Given the description of an element on the screen output the (x, y) to click on. 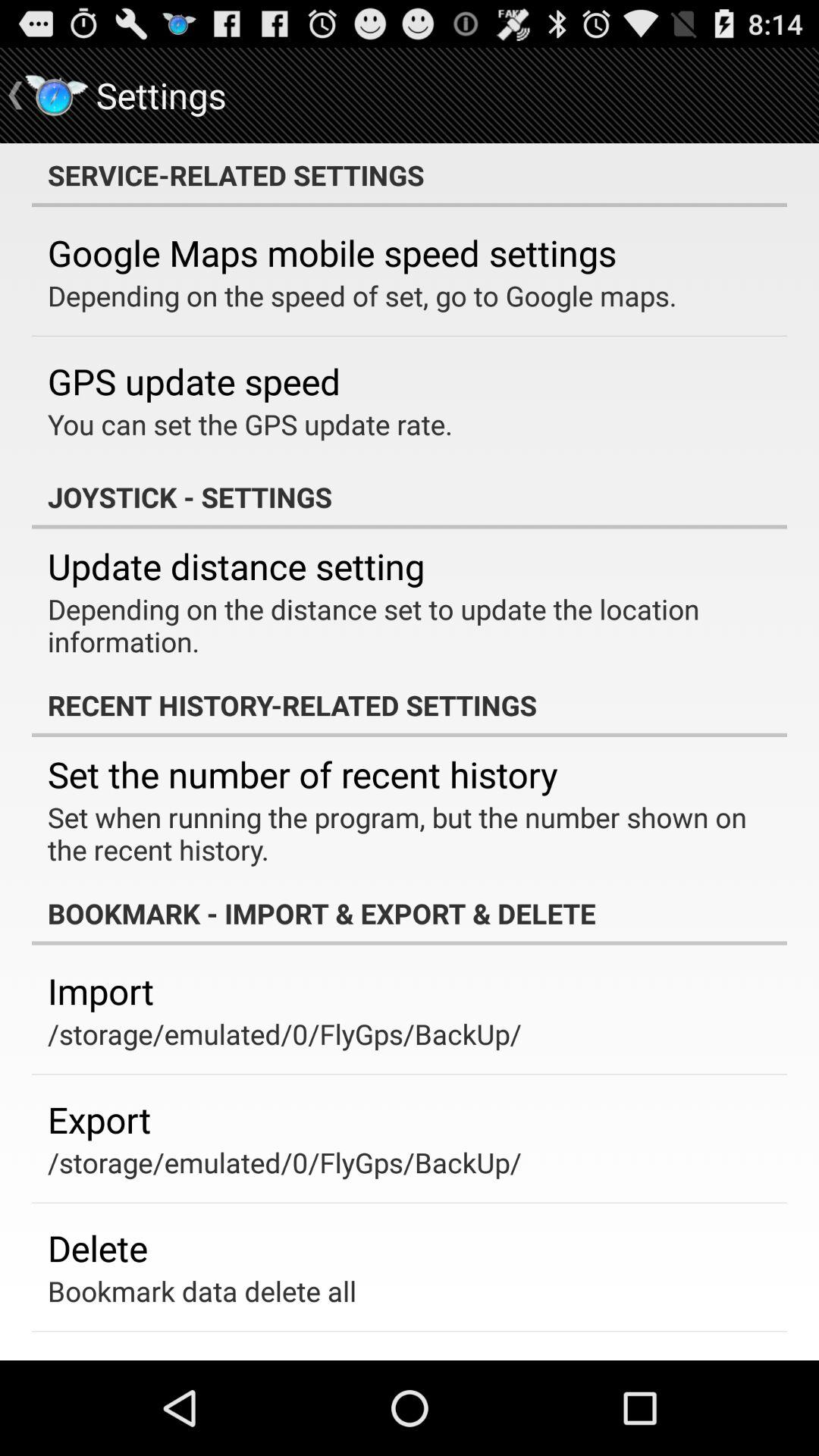
select the app below the you can set app (409, 496)
